Given the description of an element on the screen output the (x, y) to click on. 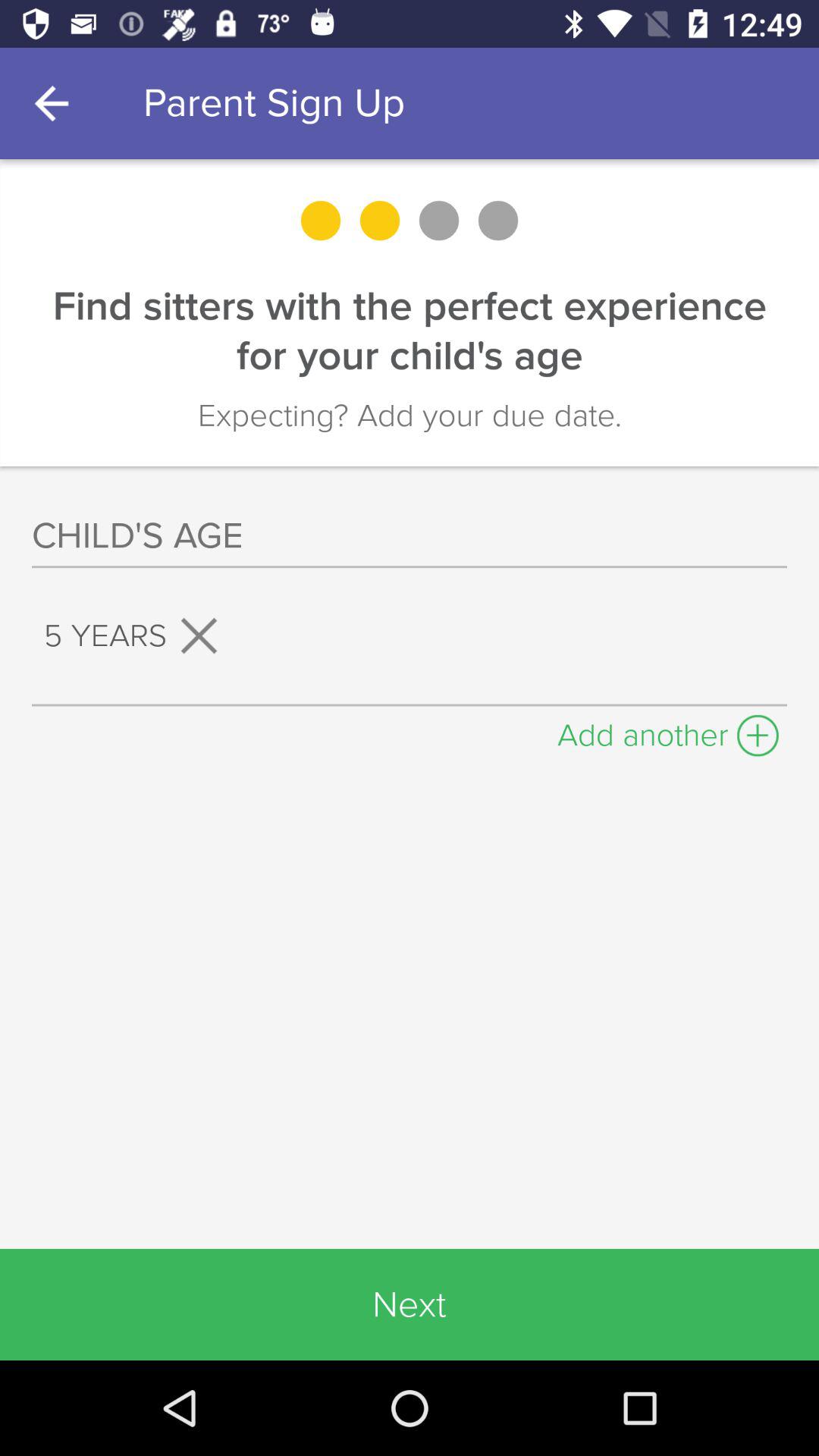
turn off icon above next icon (668, 731)
